Given the description of an element on the screen output the (x, y) to click on. 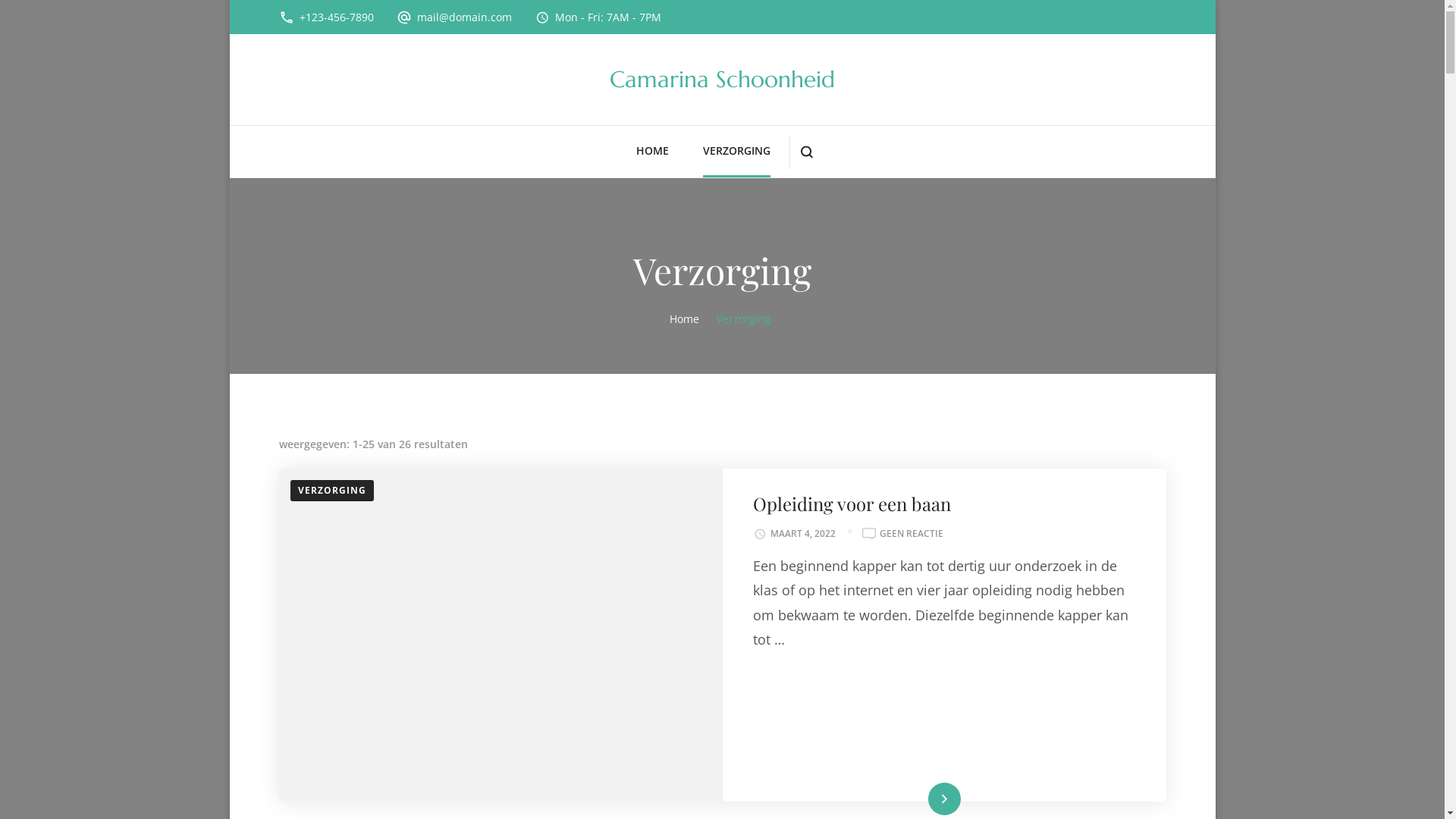
VERZORGING Element type: text (736, 151)
Lees meer Element type: text (944, 799)
Camarina Schoonheid Element type: text (721, 79)
+123-456-7890 Element type: text (335, 16)
Opleiding voor een baan Element type: text (851, 503)
MAART 4, 2022 Element type: text (802, 533)
HOME Element type: text (652, 151)
mail@domain.com Element type: text (464, 16)
VERZORGING Element type: text (331, 490)
Home Element type: text (684, 318)
GEEN REACTIE
OP OPLEIDING VOOR EEN BAAN Element type: text (911, 533)
Verzorging Element type: text (743, 318)
